Given the description of an element on the screen output the (x, y) to click on. 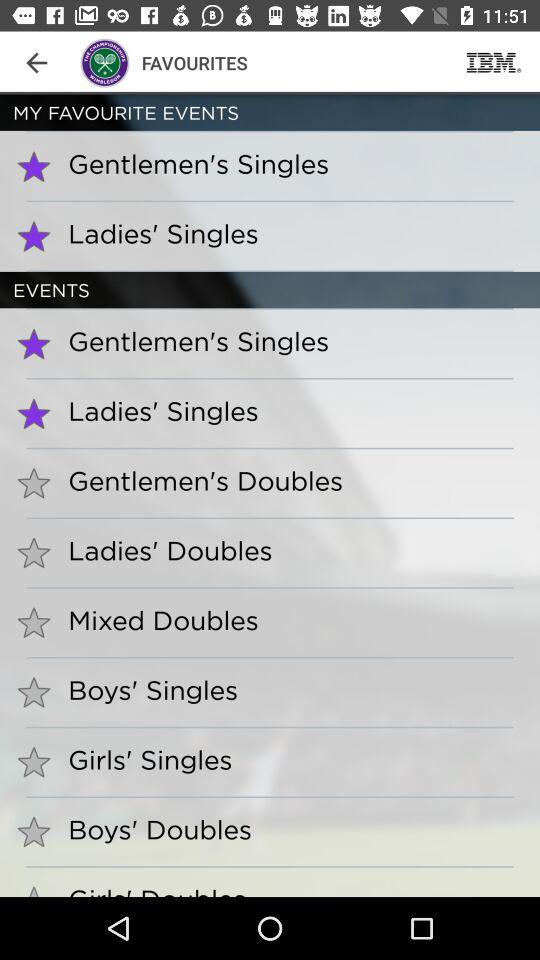
open the app to the right of the favourites app (494, 62)
